Given the description of an element on the screen output the (x, y) to click on. 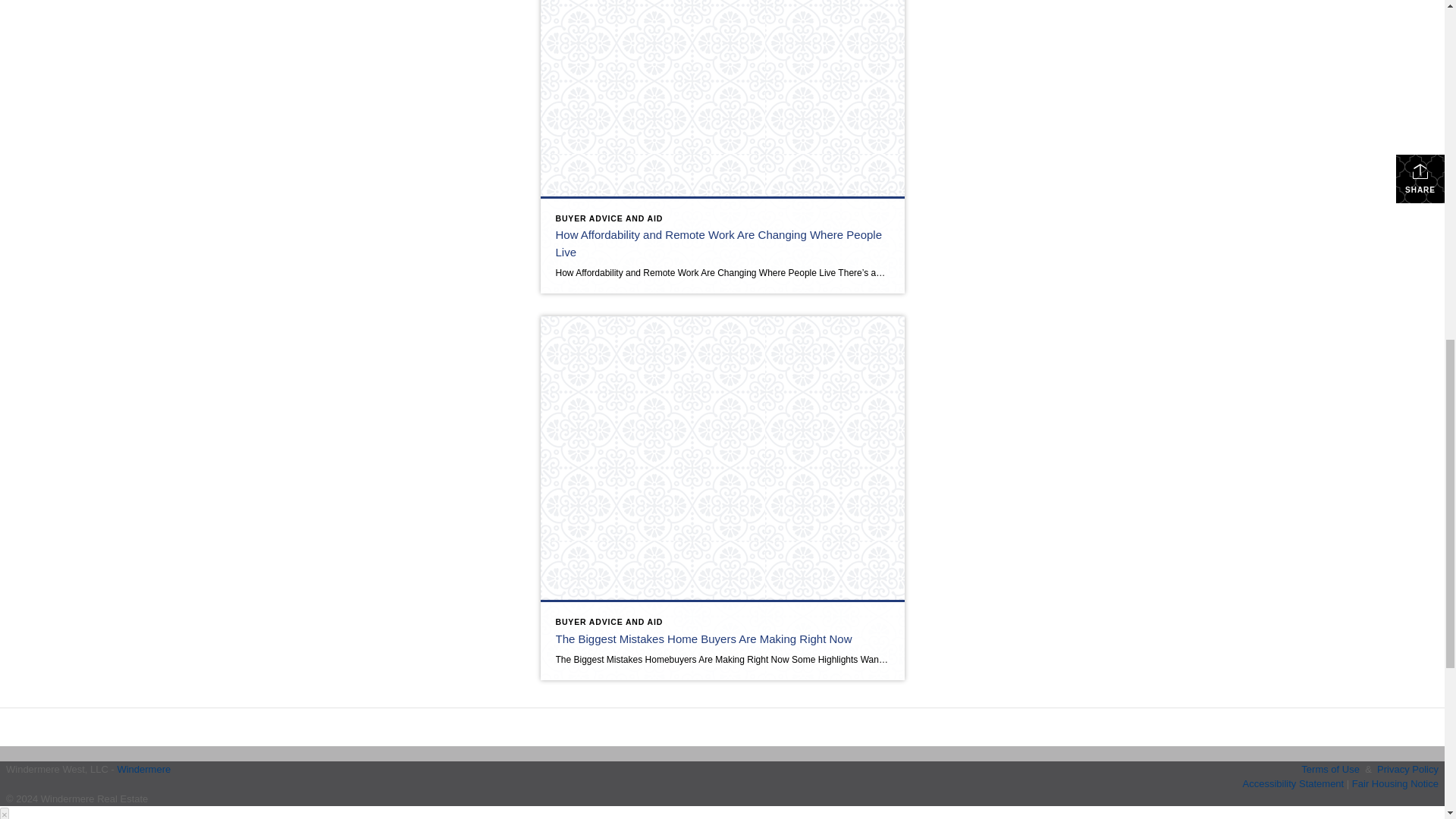
Windermere (143, 767)
